Given the description of an element on the screen output the (x, y) to click on. 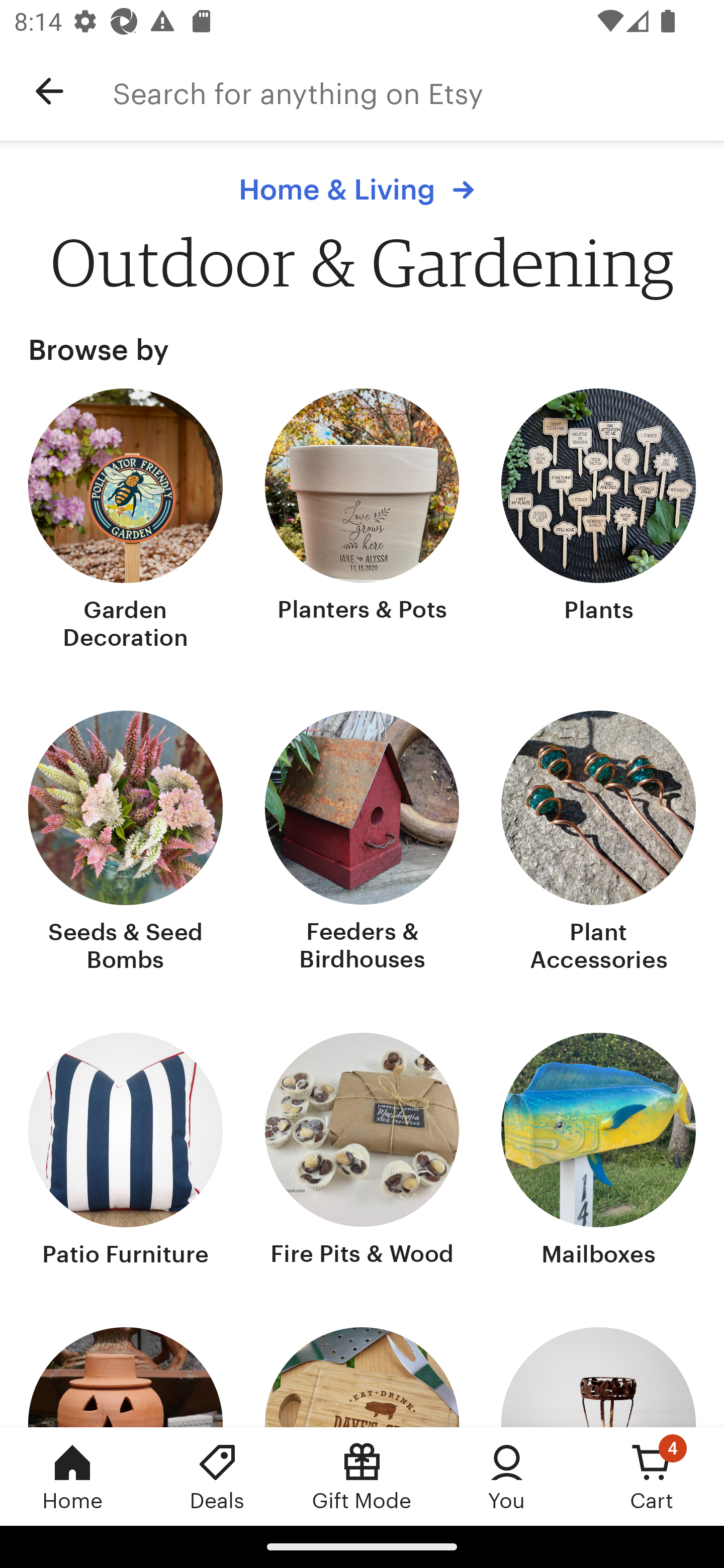
Navigate up (49, 91)
Search for anything on Etsy (418, 91)
Home & Living (361, 189)
Browse by (361, 349)
Garden Decoration (125, 520)
Planters & Pots (361, 520)
Plants (598, 520)
Seeds & Seed Bombs (125, 843)
Feeders & Birdhouses (361, 843)
Plant Accessories (598, 843)
Patio Furniture (125, 1152)
Fire Pits & Wood (361, 1152)
Mailboxes (598, 1152)
Deals (216, 1475)
Gift Mode (361, 1475)
You (506, 1475)
Cart, 4 new notifications Cart (651, 1475)
